Given the description of an element on the screen output the (x, y) to click on. 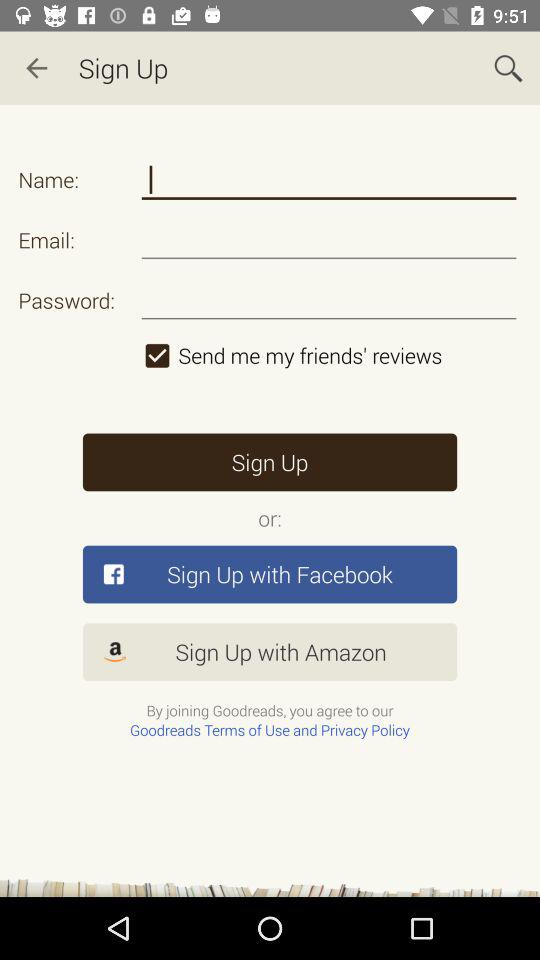
click on the first text field beside name (329, 179)
select the field which is right to the text password (329, 300)
click on the goodreads terms of use and privacy policy option (269, 730)
click on the search icon (508, 68)
